Given the description of an element on the screen output the (x, y) to click on. 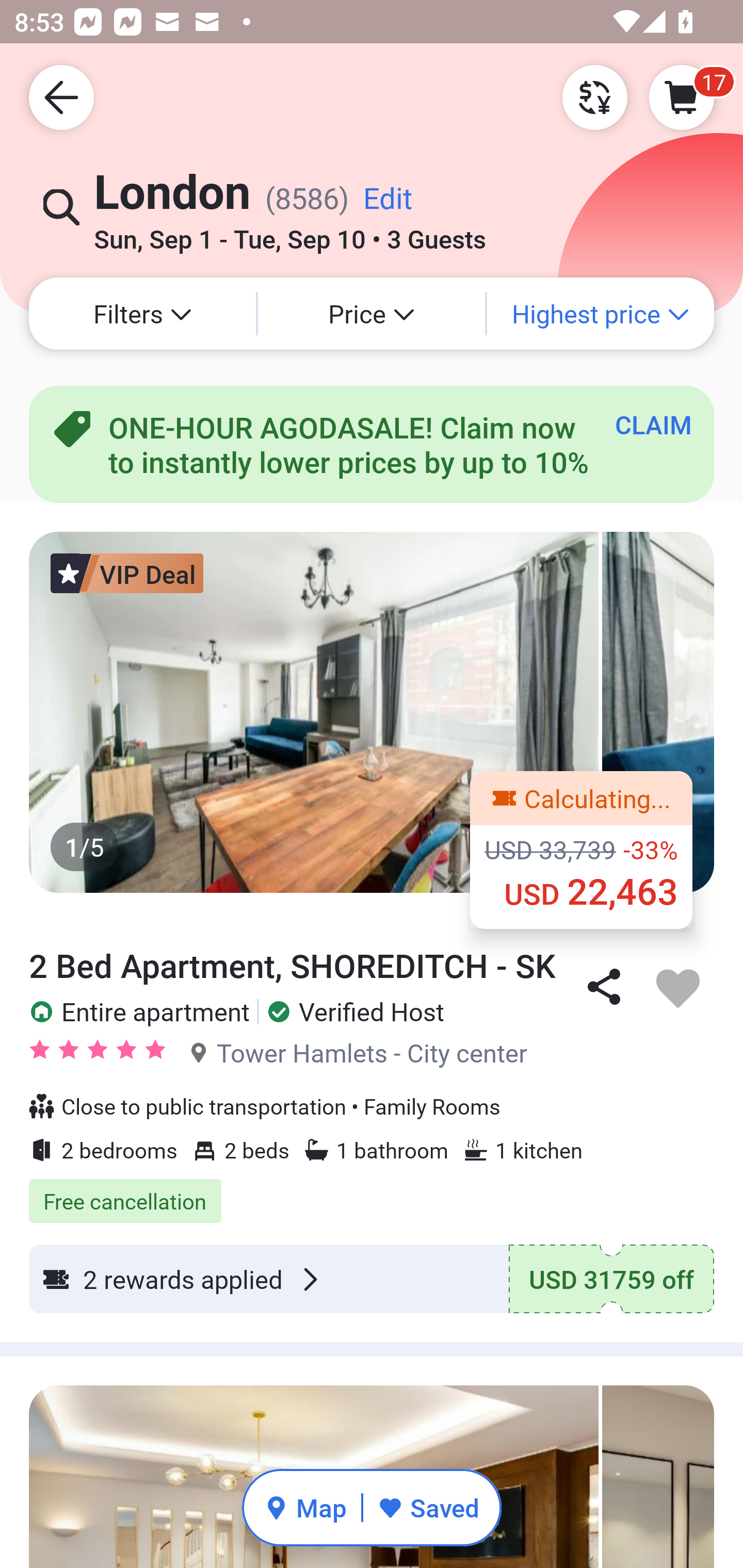
Filters (141, 313)
Price (371, 313)
Highest price (600, 313)
CLAIM (653, 424)
VIP Deal (126, 572)
1/5 (371, 711)
Calculating... ‪USD 33,739 -33% ‪USD 22,463 (581, 849)
Free cancellation (371, 1190)
2 rewards applied USD 31759 off (371, 1278)
Map (305, 1507)
Saved (428, 1507)
